Given the description of an element on the screen output the (x, y) to click on. 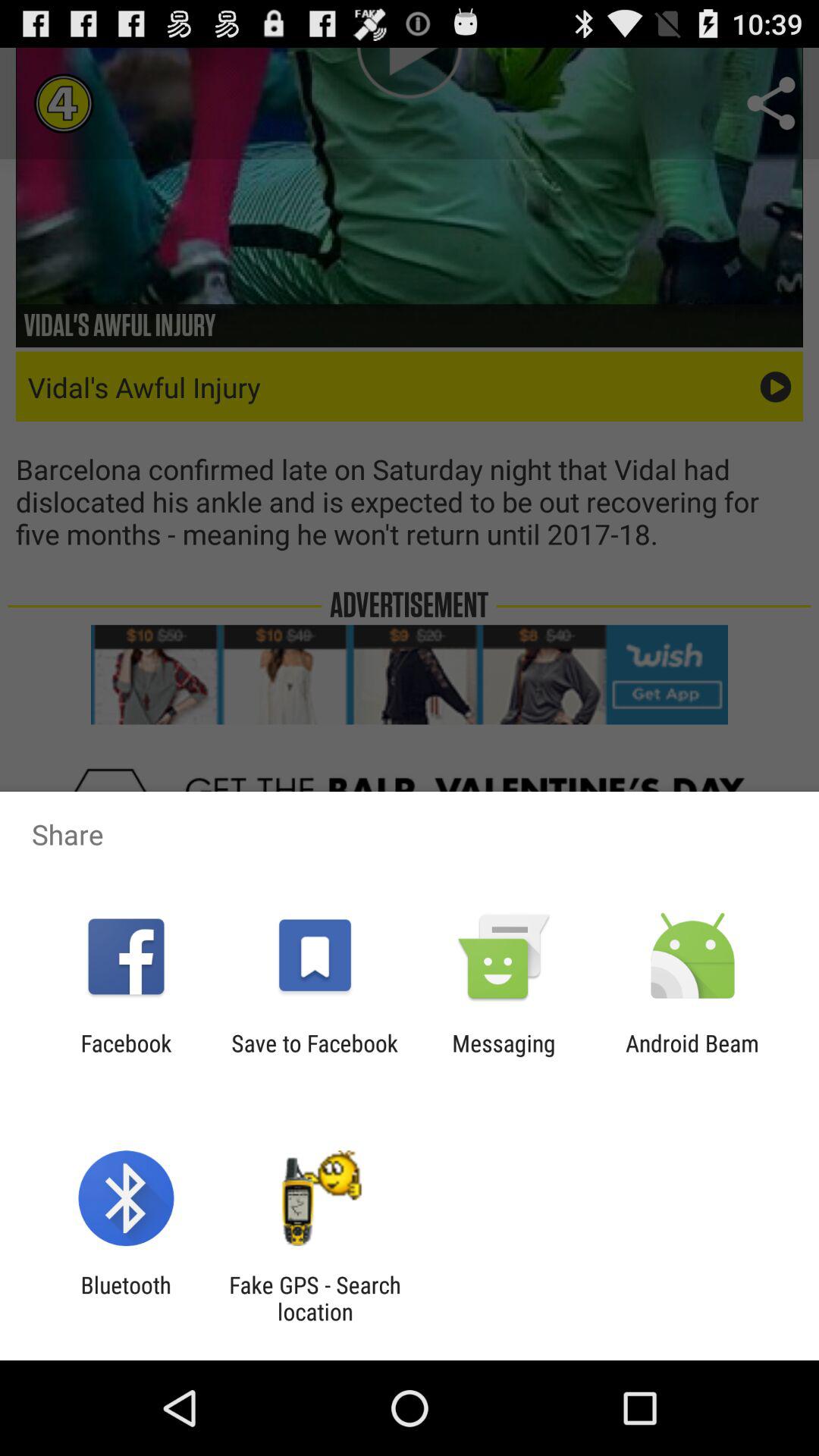
open icon next to the bluetooth (314, 1298)
